Given the description of an element on the screen output the (x, y) to click on. 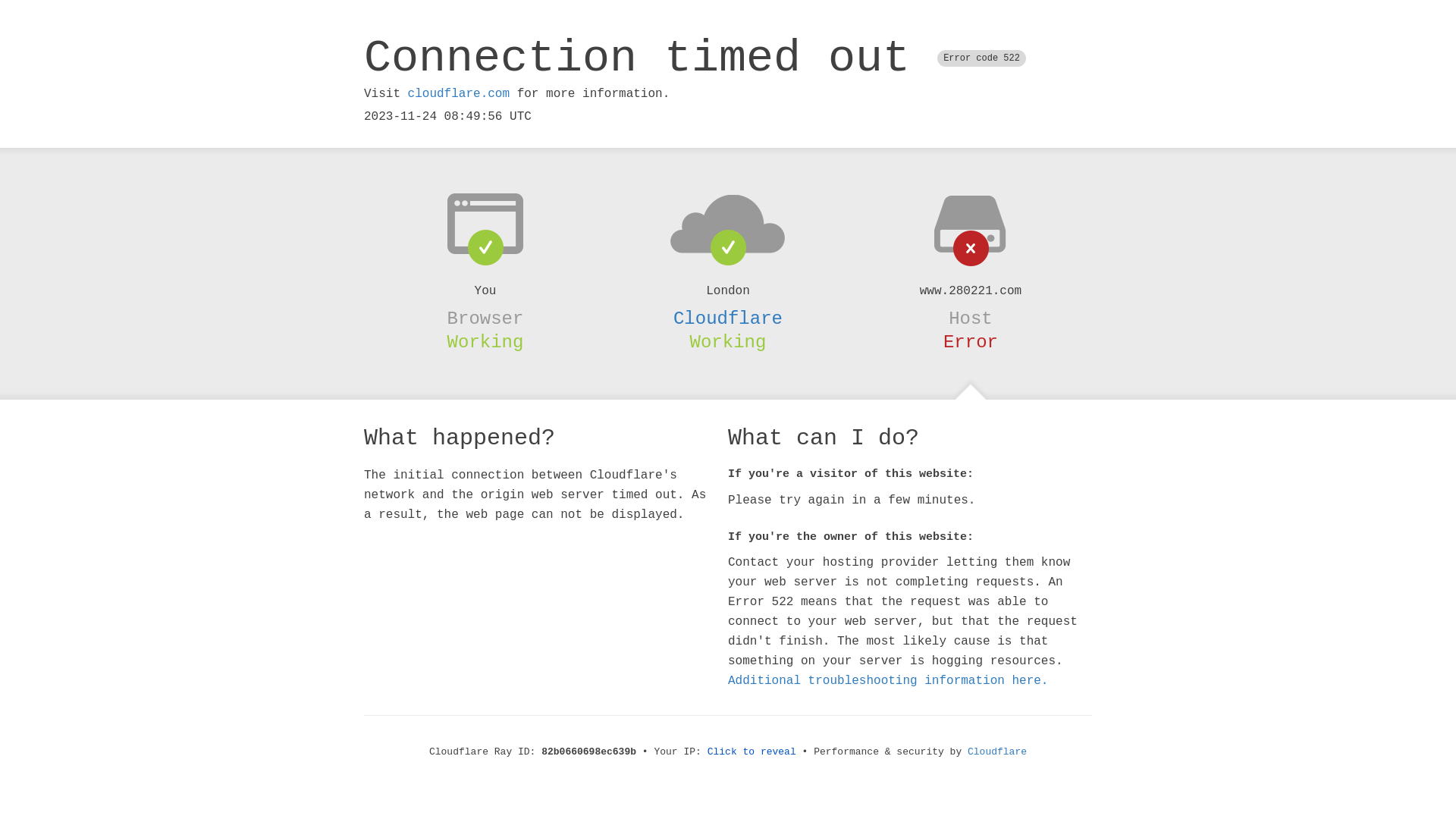
Cloudflare Element type: text (996, 751)
Cloudflare Element type: text (727, 318)
Click to reveal Element type: text (751, 751)
cloudflare.com Element type: text (458, 93)
Additional troubleshooting information here. Element type: text (888, 680)
